Given the description of an element on the screen output the (x, y) to click on. 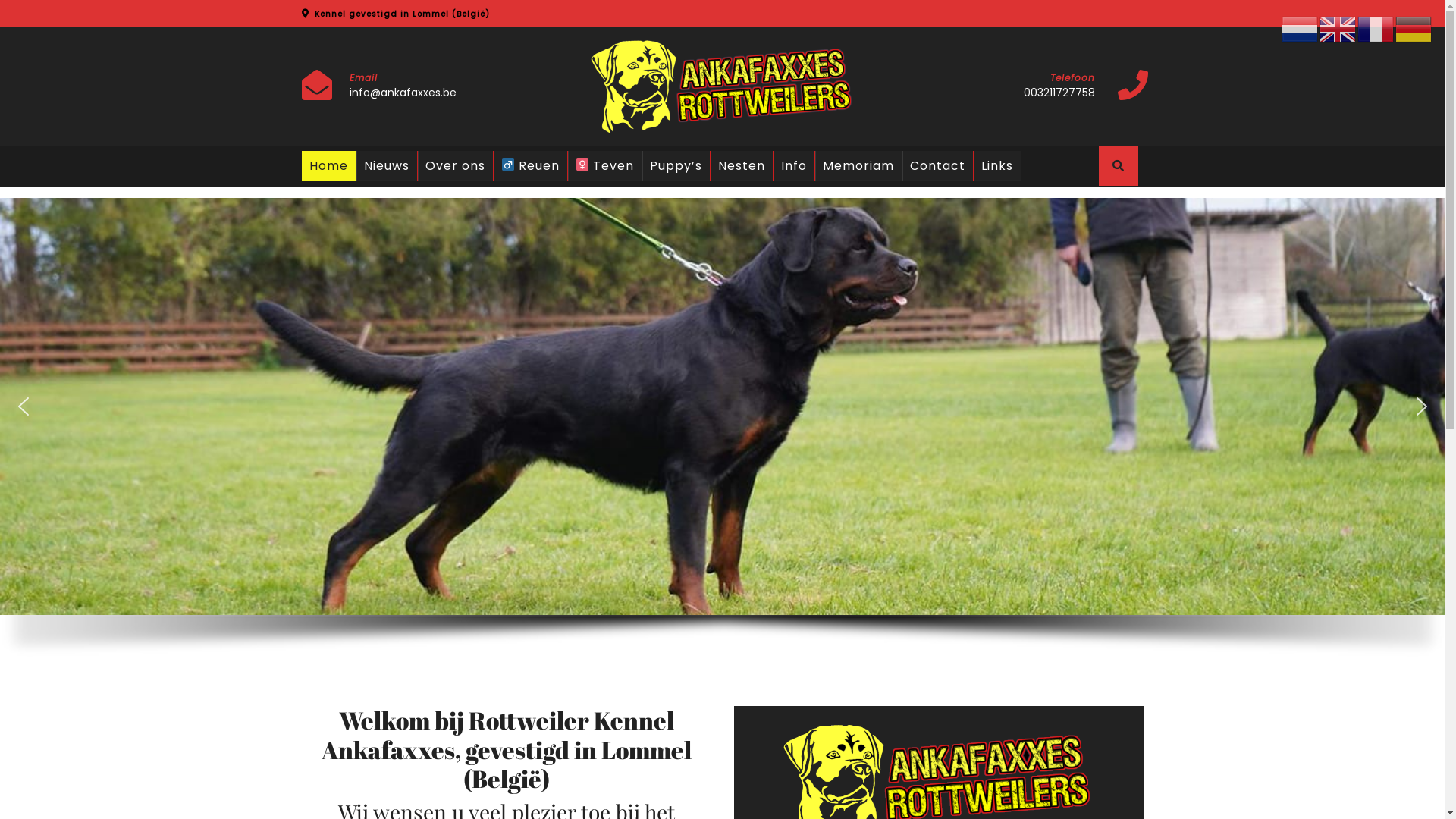
Info Element type: text (793, 165)
Links Element type: text (996, 165)
Nesten Element type: text (741, 165)
French Element type: hover (1376, 28)
Memoriam Element type: text (858, 165)
English Element type: hover (1338, 28)
Dutch Element type: hover (1300, 28)
Over ons Element type: text (454, 165)
Nieuws Element type: text (386, 165)
Teven Element type: text (604, 165)
German Element type: hover (1414, 28)
Reuen Element type: text (529, 165)
Contact Element type: text (937, 165)
Home Element type: text (328, 165)
